Given the description of an element on the screen output the (x, y) to click on. 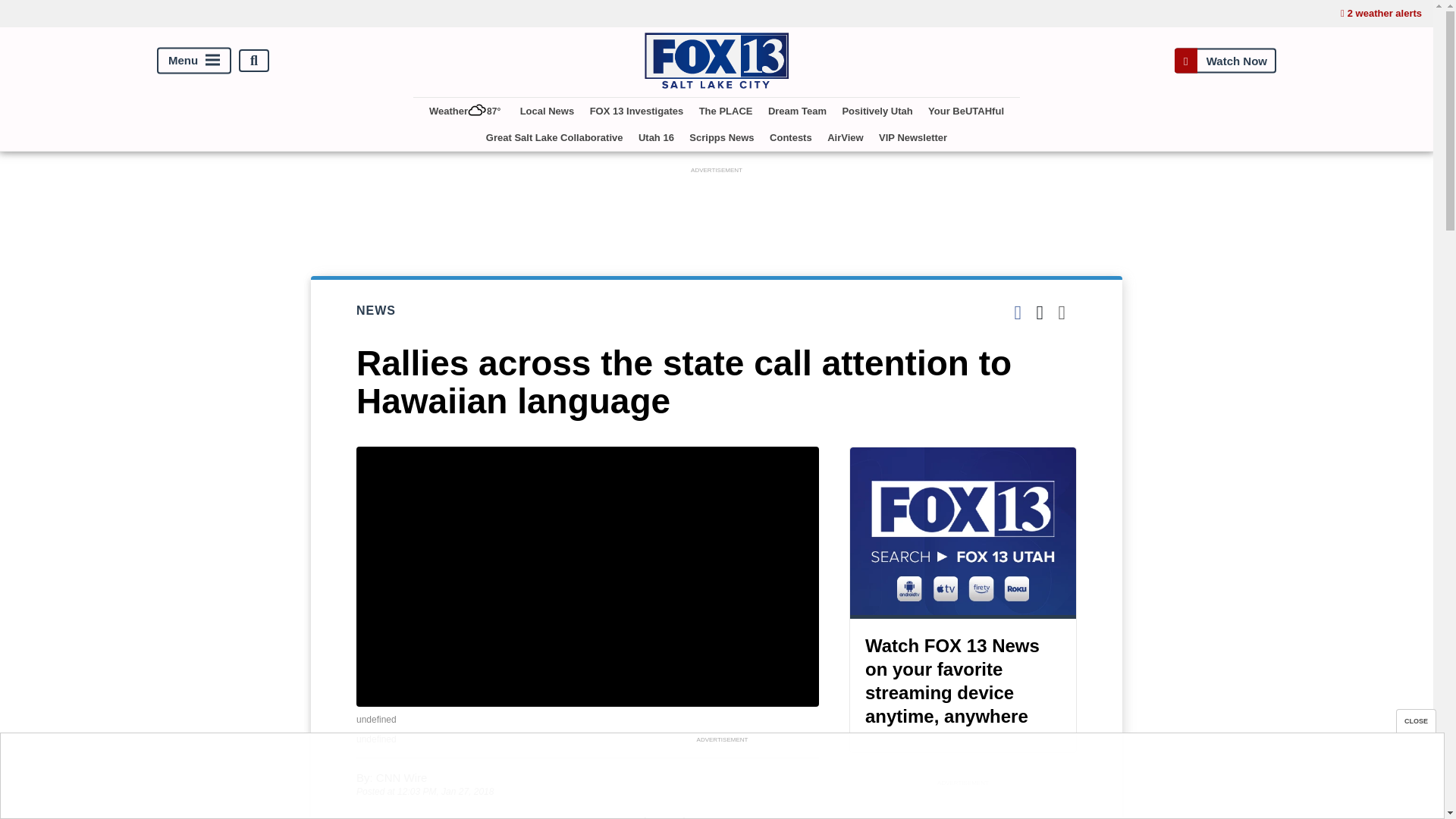
Watch Now (1224, 60)
Menu (194, 60)
3rd party ad content (962, 804)
3rd party ad content (716, 211)
3rd party ad content (721, 780)
